Given the description of an element on the screen output the (x, y) to click on. 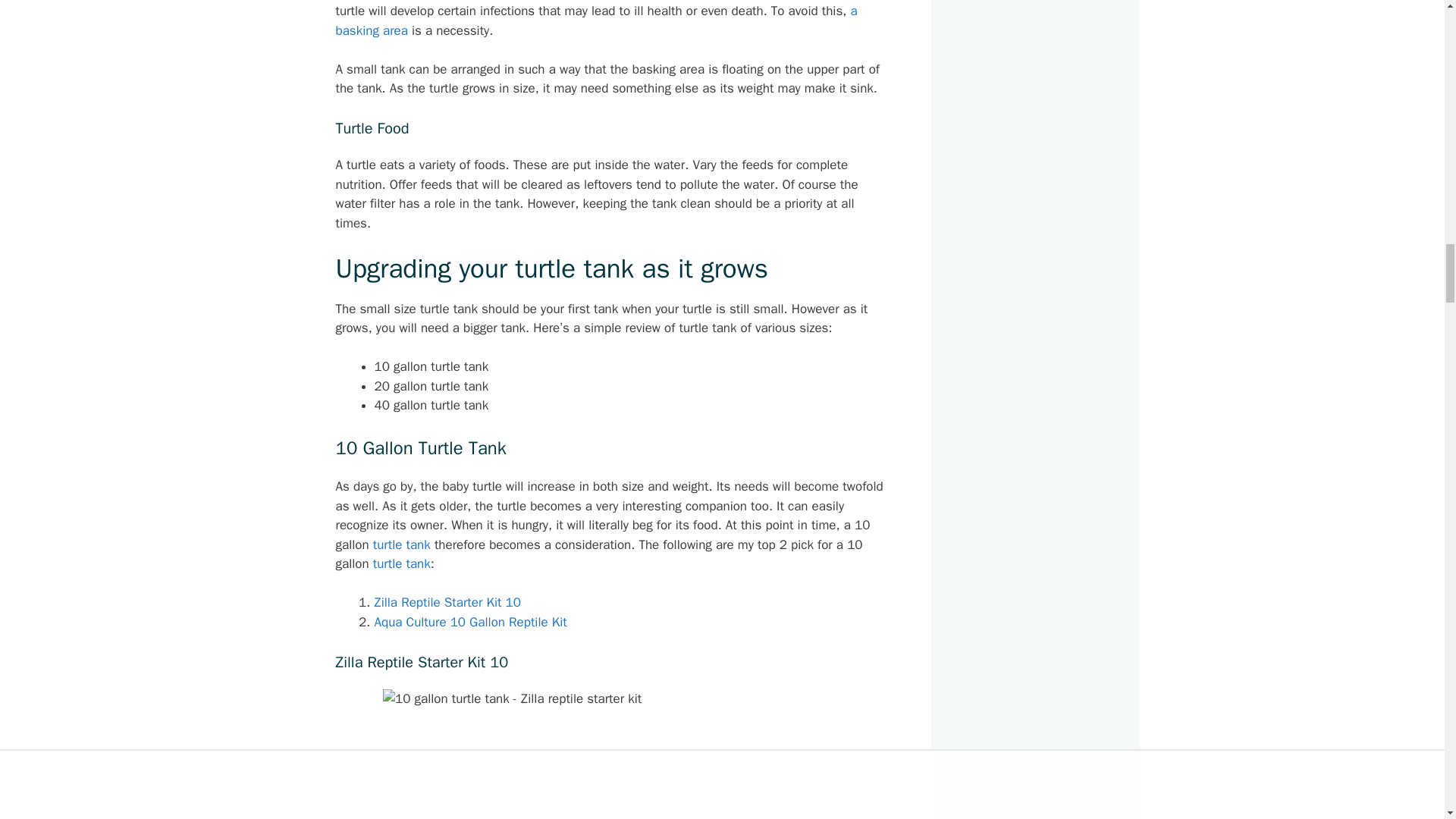
Zilla Reptile Starter Kit 10 (447, 602)
a basking area (595, 20)
Aqua Culture 10 Gallon Reptile Kit (470, 621)
turtle tank (401, 563)
turtle tank (401, 544)
